Given the description of an element on the screen output the (x, y) to click on. 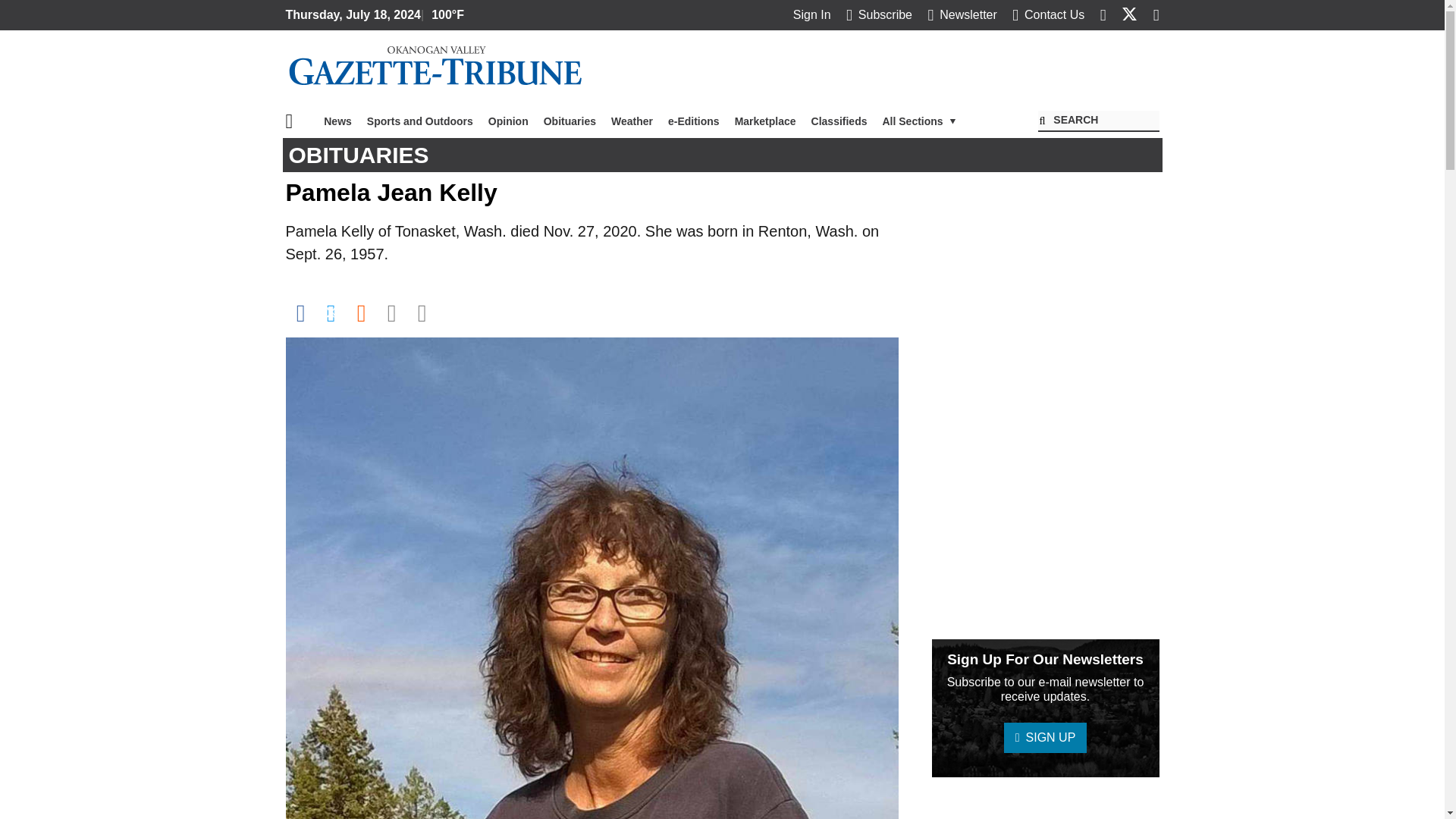
Post to Twitter (330, 313)
3rd party ad content (1044, 800)
Find Us On Facebook (1103, 14)
All Sections (919, 121)
3rd party ad content (882, 70)
Opinion (507, 121)
Post to Facebook (300, 313)
Sports and Outdoors (419, 121)
Newsletter (961, 14)
Obituaries (569, 121)
e-Editions (693, 121)
Weather (632, 121)
Gazette-Tribune (435, 67)
Post to Reddit (360, 313)
Contact Us (1047, 14)
